Given the description of an element on the screen output the (x, y) to click on. 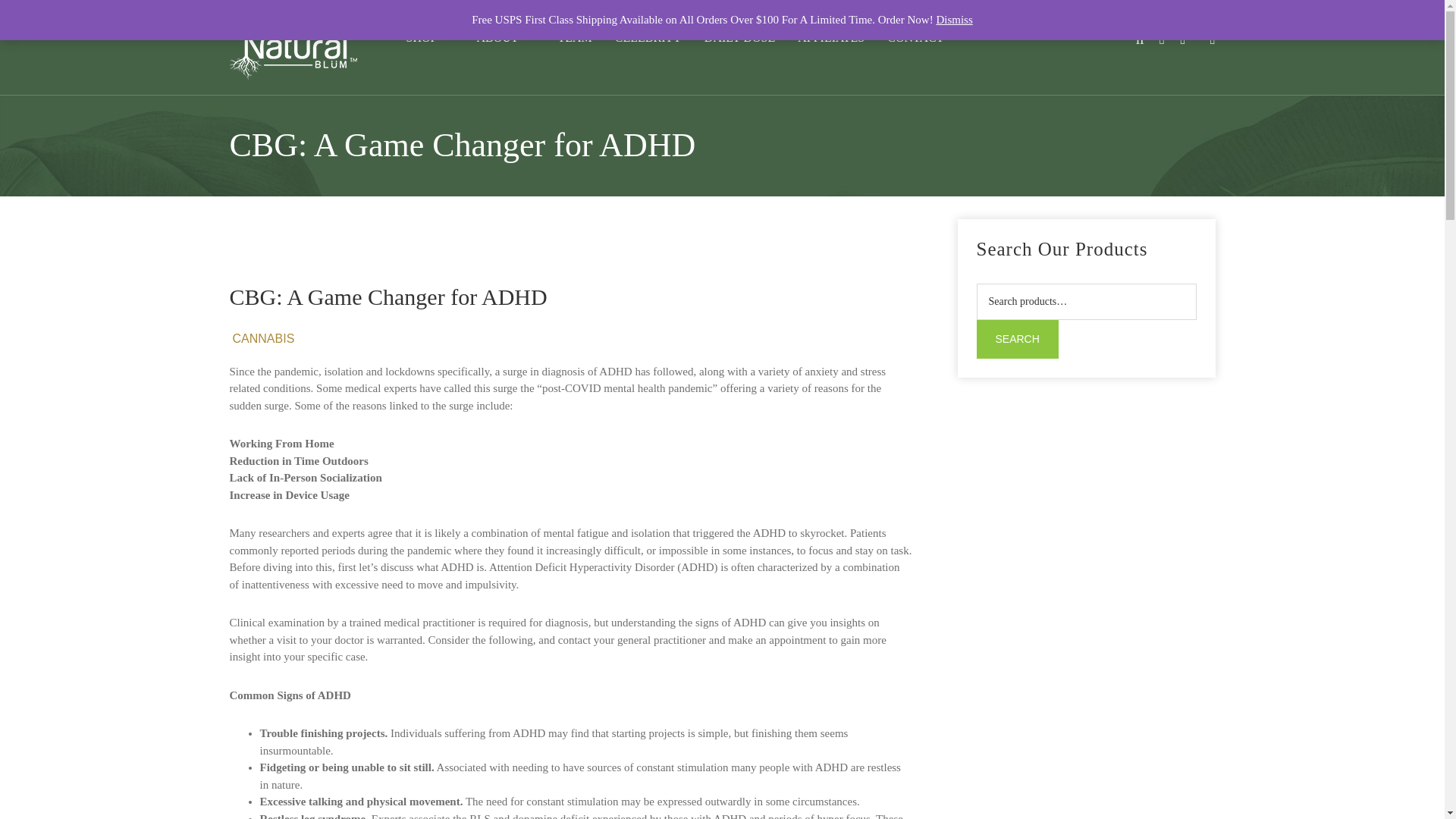
ABOUT (505, 37)
AFFILIATES (831, 37)
CELEBRITY (648, 37)
0 (1182, 39)
CONTACT (923, 37)
SHOP (429, 37)
DAILY DOSE (739, 37)
TEAM (575, 37)
0 (1211, 39)
